Given the description of an element on the screen output the (x, y) to click on. 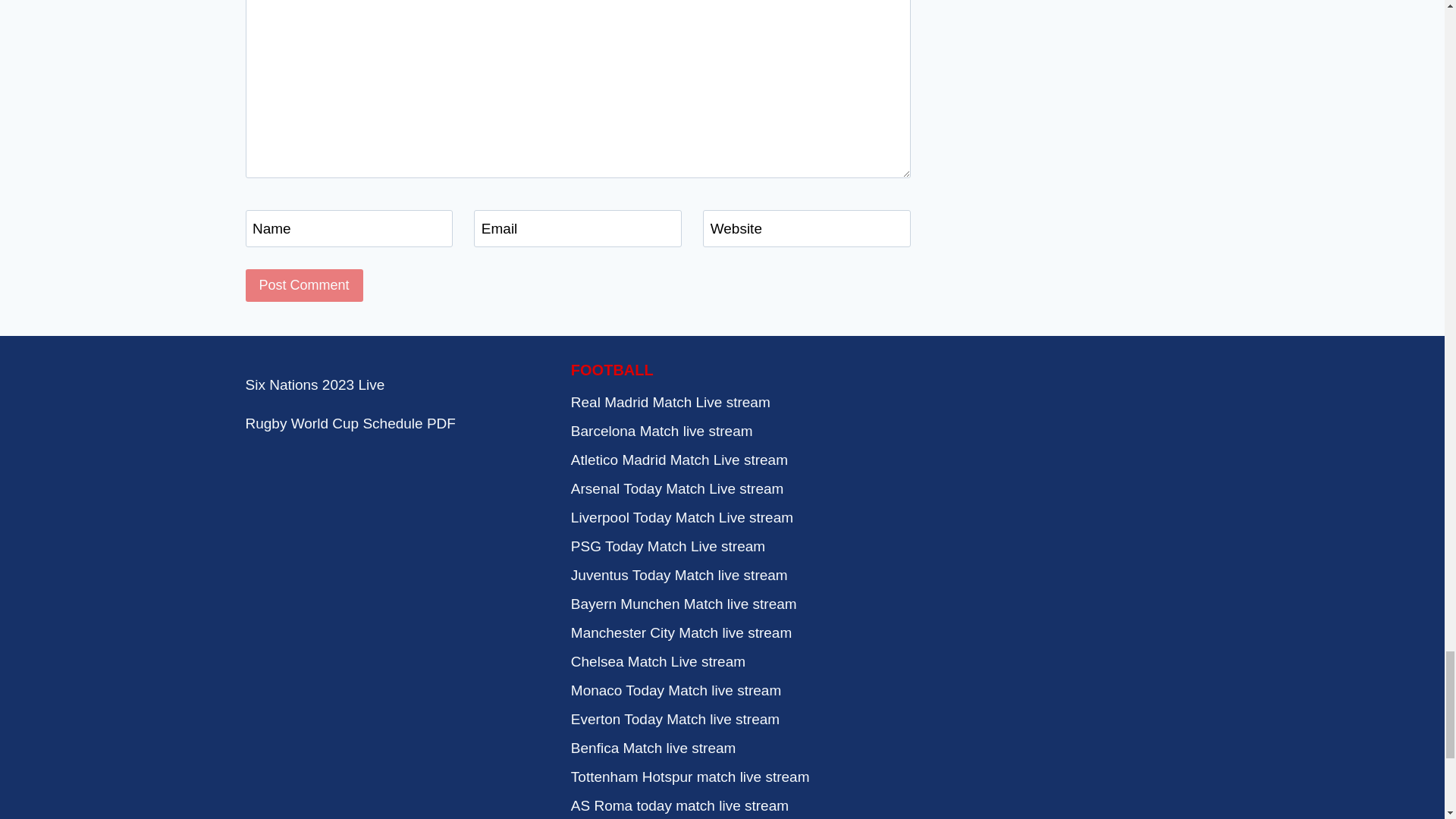
Post Comment (304, 285)
